Given the description of an element on the screen output the (x, y) to click on. 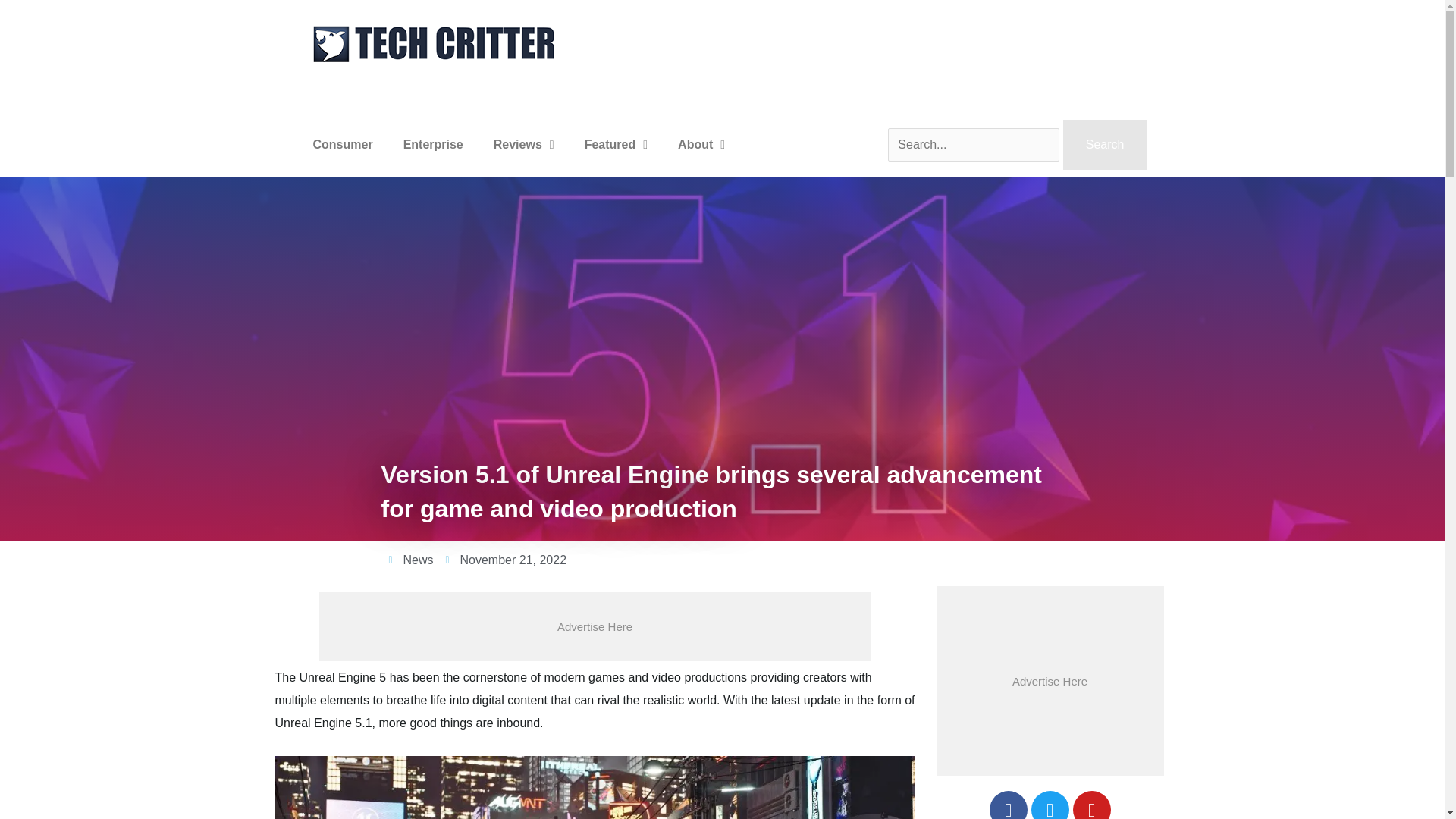
Reviews (524, 144)
Search (1104, 144)
Consumer (342, 144)
Featured (615, 144)
Enterprise (433, 144)
About (700, 144)
Search (1104, 144)
